Given the description of an element on the screen output the (x, y) to click on. 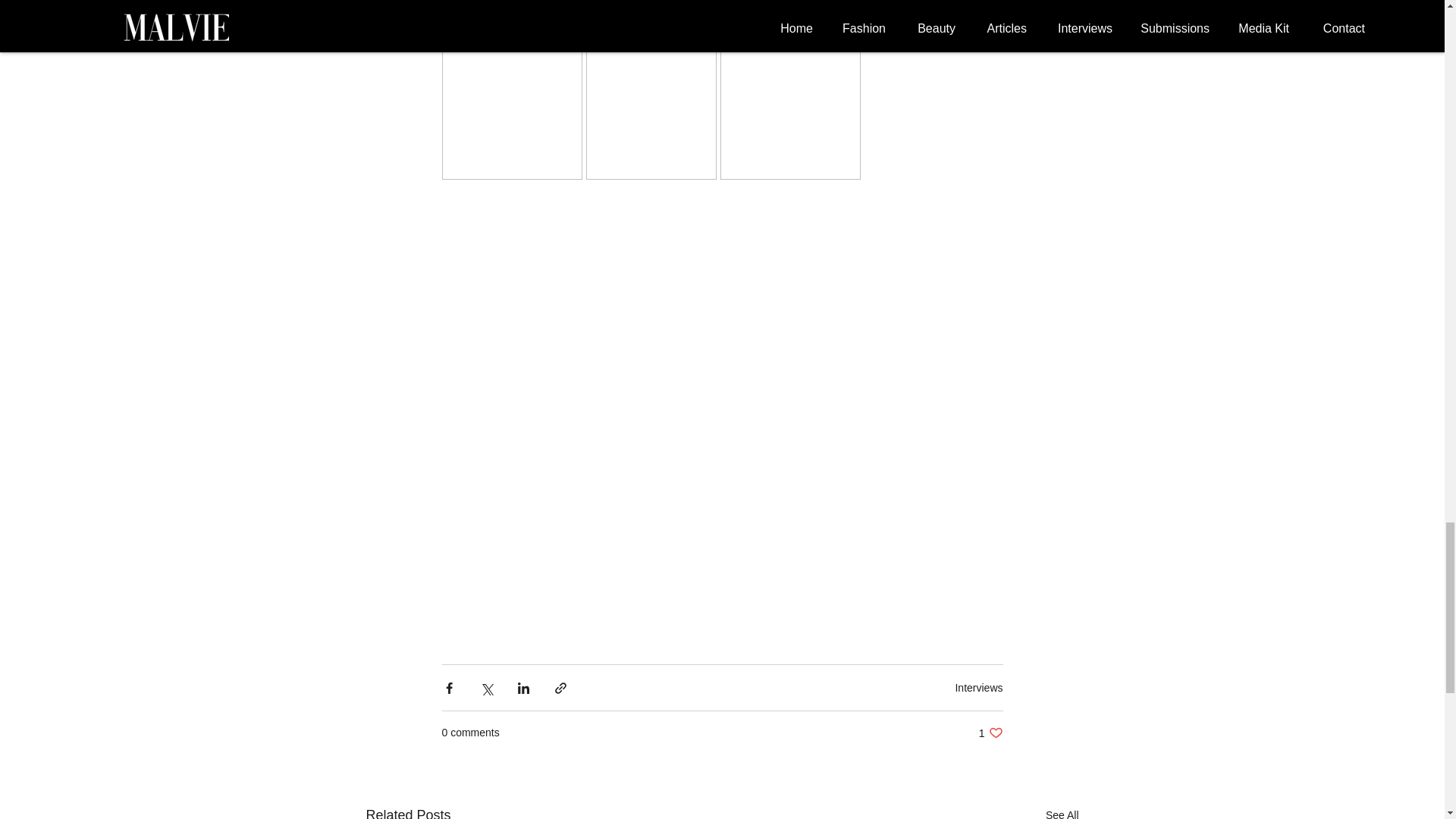
Interviews (979, 687)
See All (990, 732)
